Given the description of an element on the screen output the (x, y) to click on. 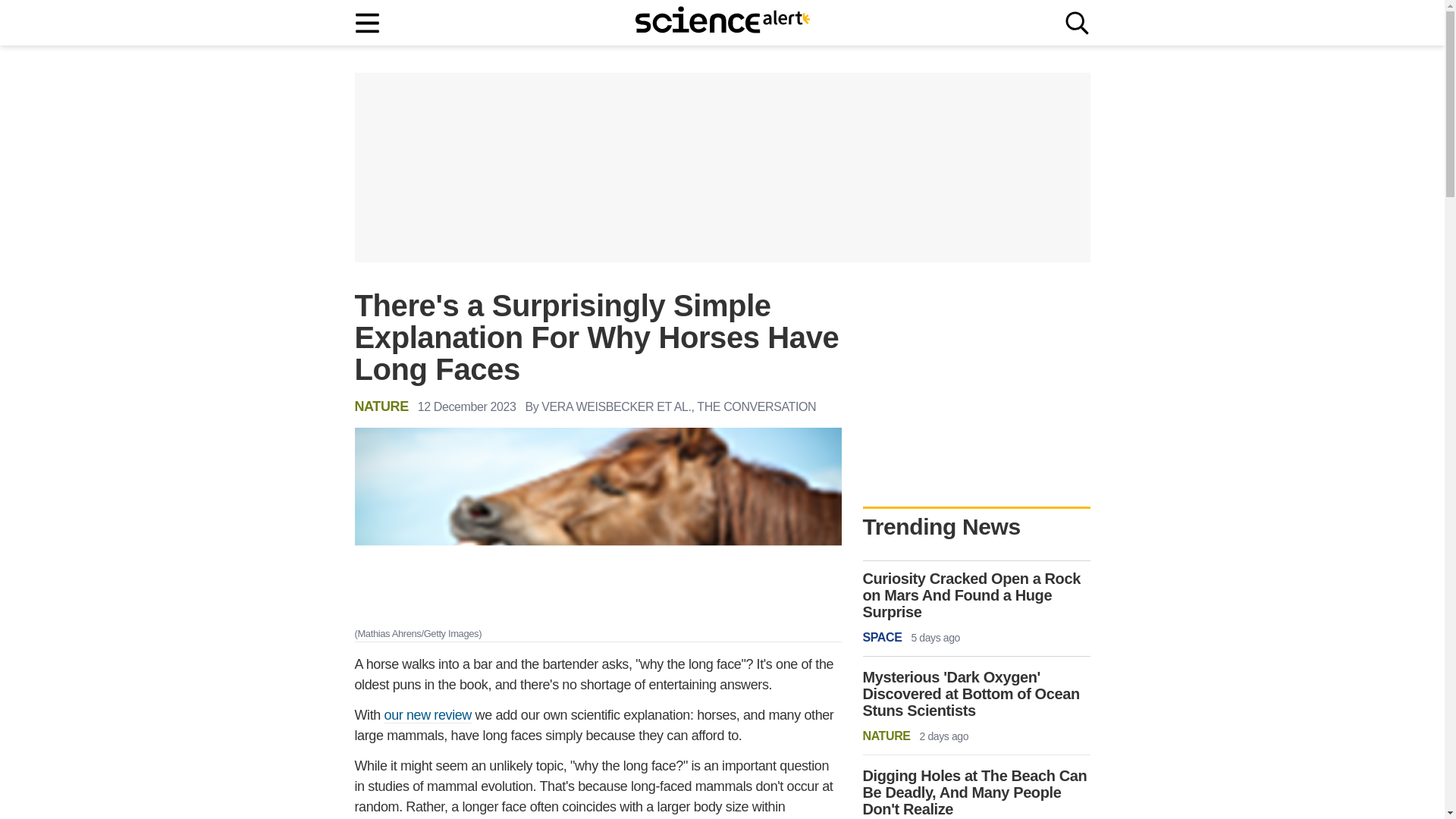
our new review (427, 715)
NATURE (382, 406)
